Given the description of an element on the screen output the (x, y) to click on. 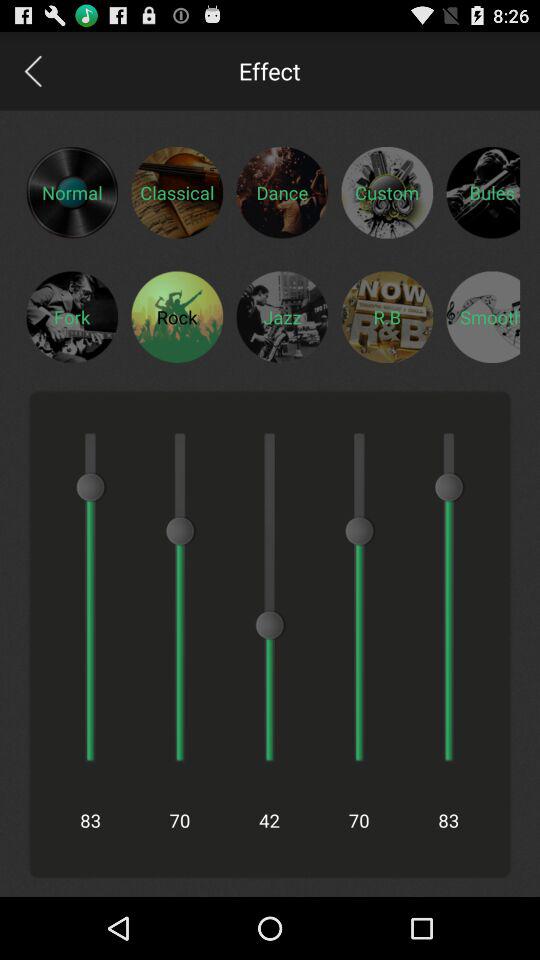
smooth effect on music (483, 316)
